Given the description of an element on the screen output the (x, y) to click on. 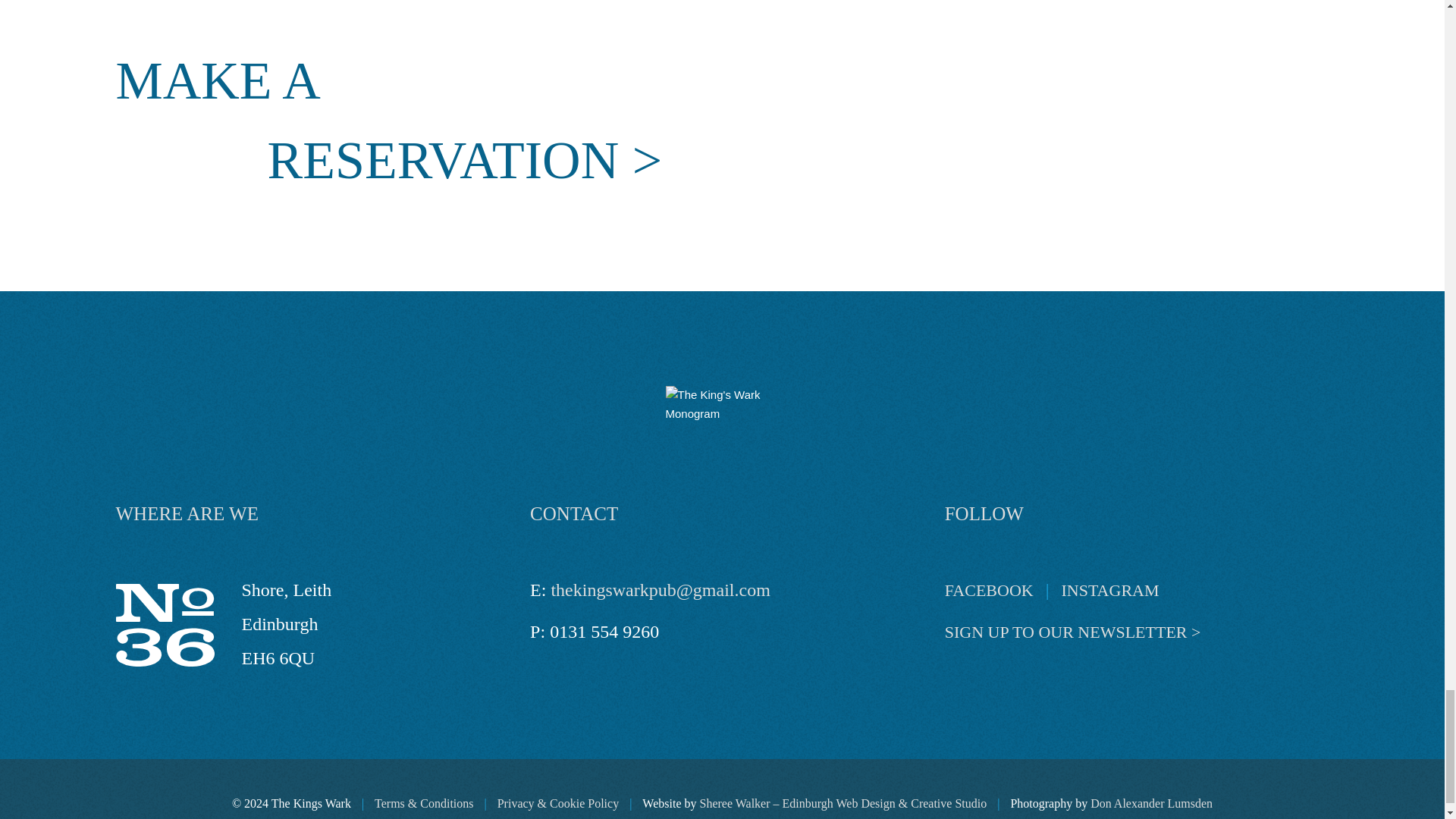
Don Alexander Lumsden (1151, 802)
INSTAGRAM (1109, 589)
FACEBOOK (988, 589)
